Given the description of an element on the screen output the (x, y) to click on. 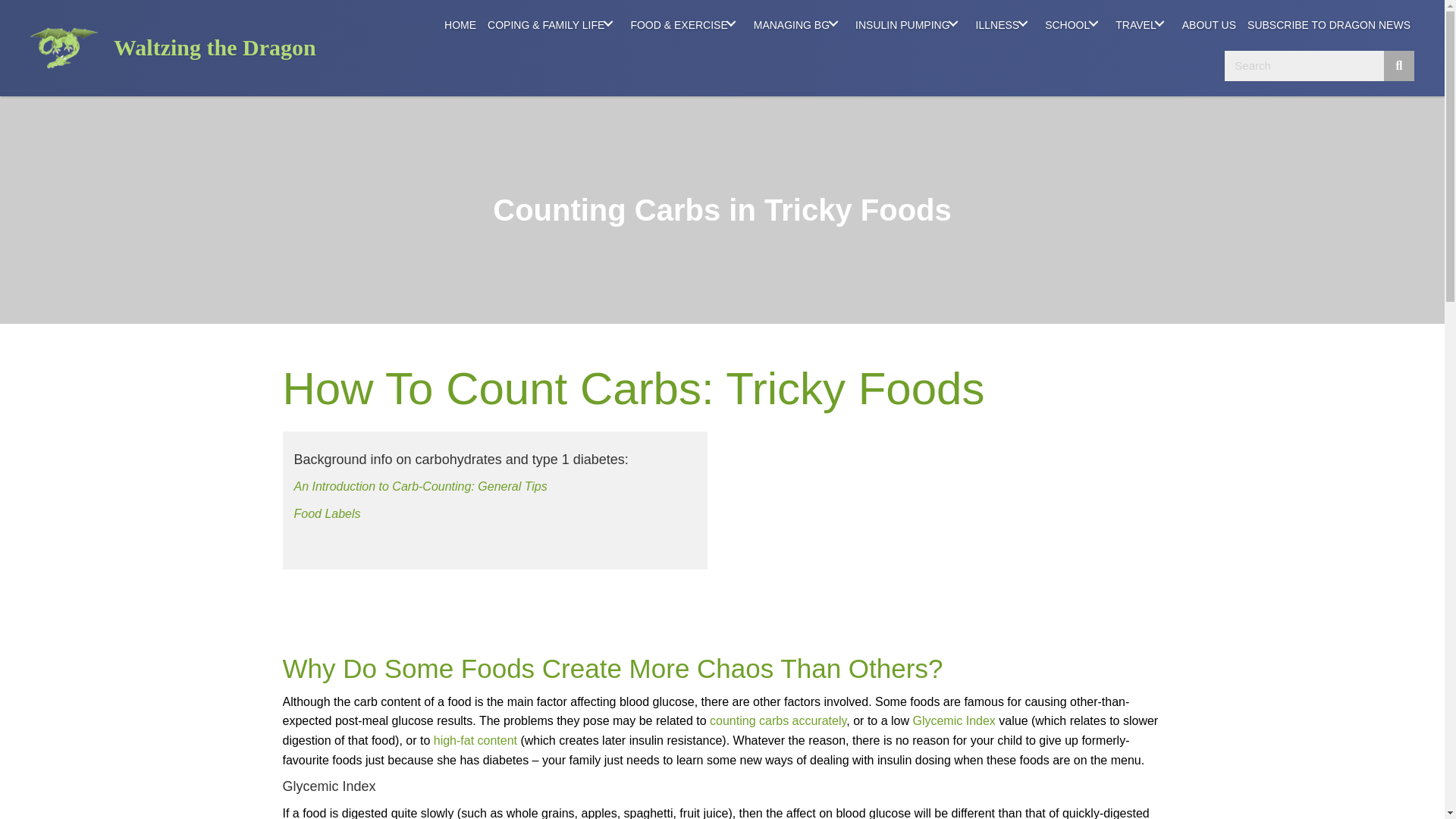
icon (64, 47)
HOME (460, 23)
Search (1304, 65)
